Given the description of an element on the screen output the (x, y) to click on. 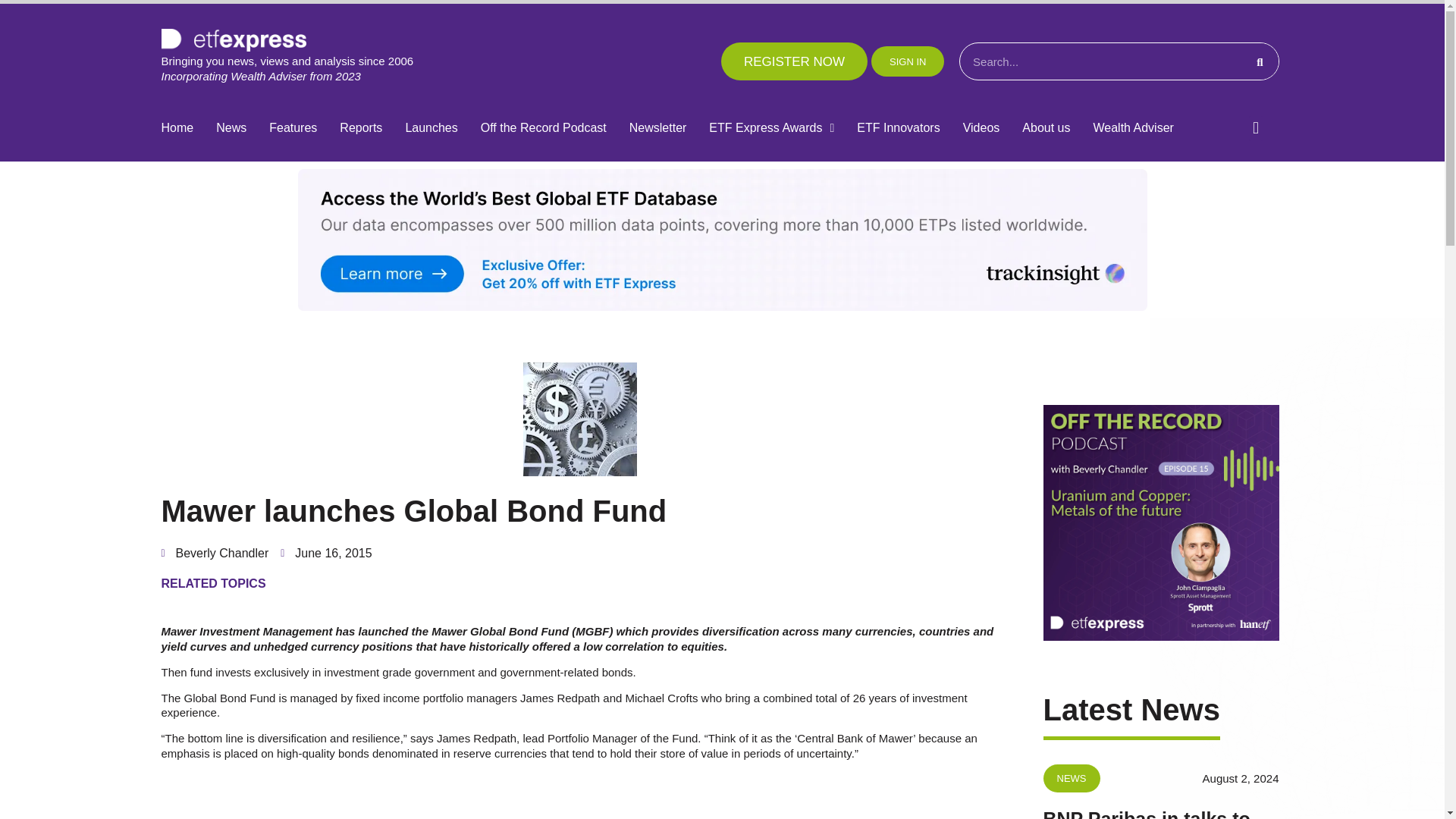
REGISTER NOW (793, 61)
SIGN IN (906, 60)
